Given the description of an element on the screen output the (x, y) to click on. 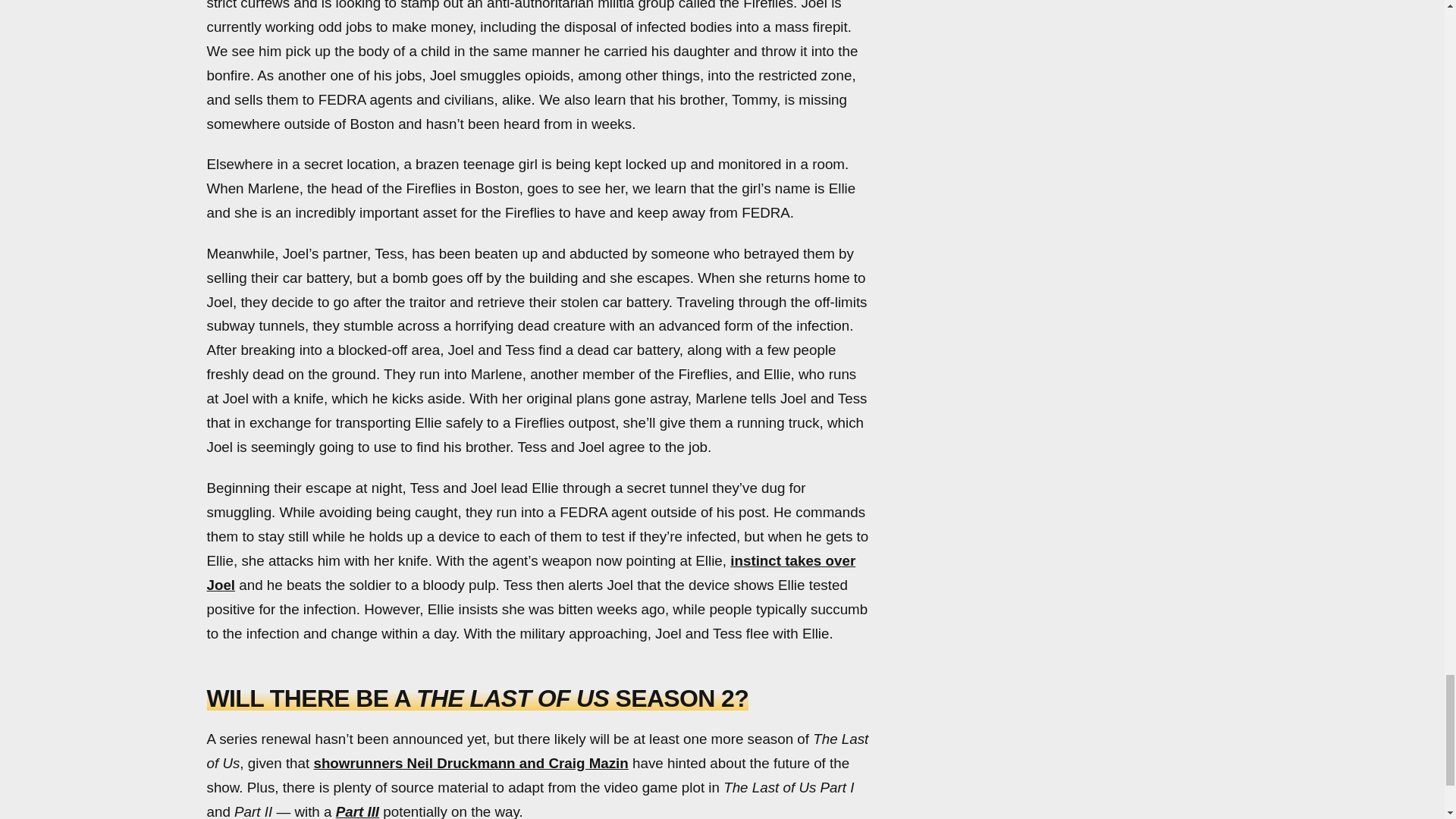
Part III (357, 811)
showrunners Neil Druckmann and Craig Mazin (470, 763)
instinct takes over Joel (531, 572)
